Given the description of an element on the screen output the (x, y) to click on. 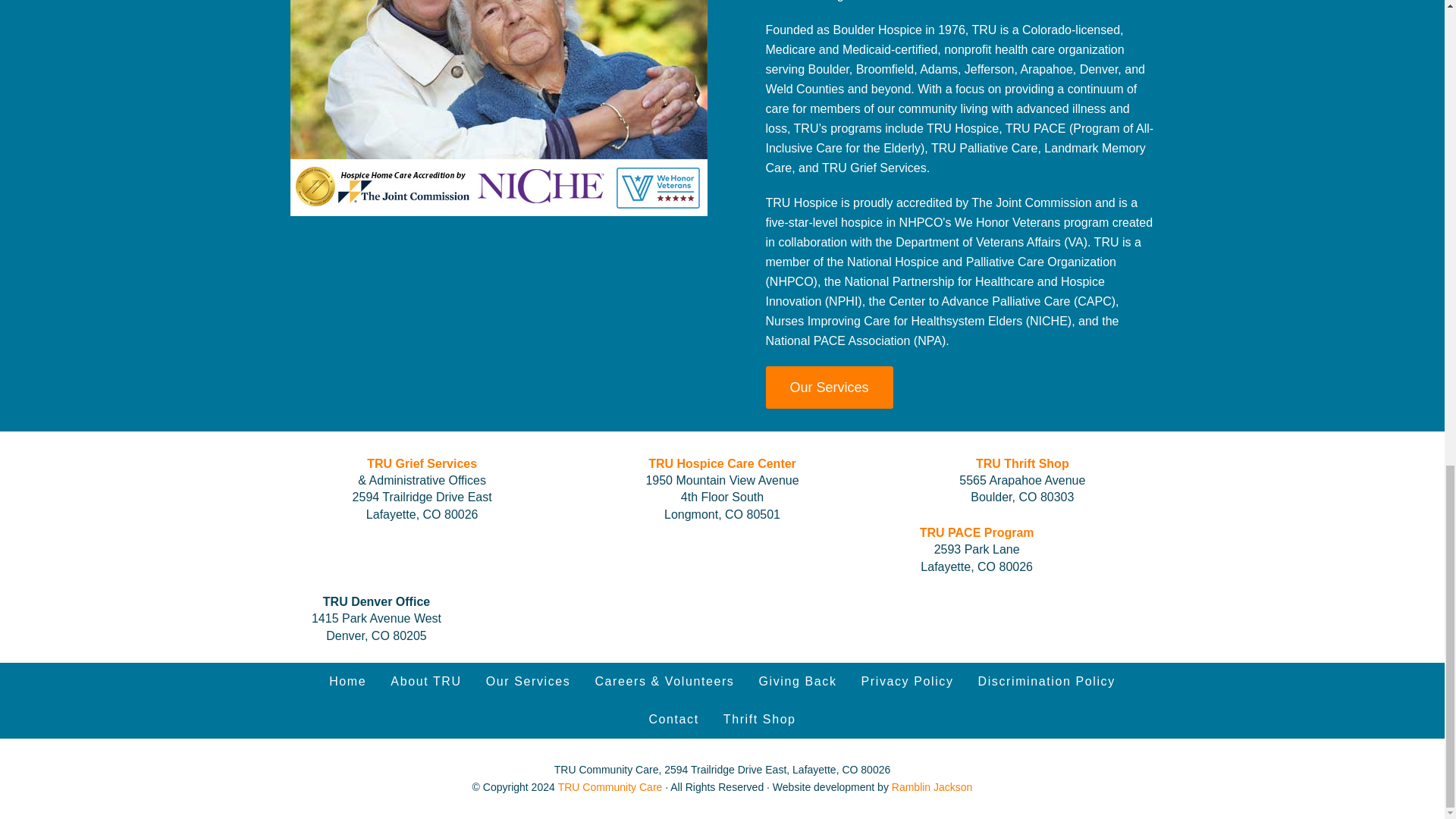
Boulder Thrift Store (759, 719)
